Given the description of an element on the screen output the (x, y) to click on. 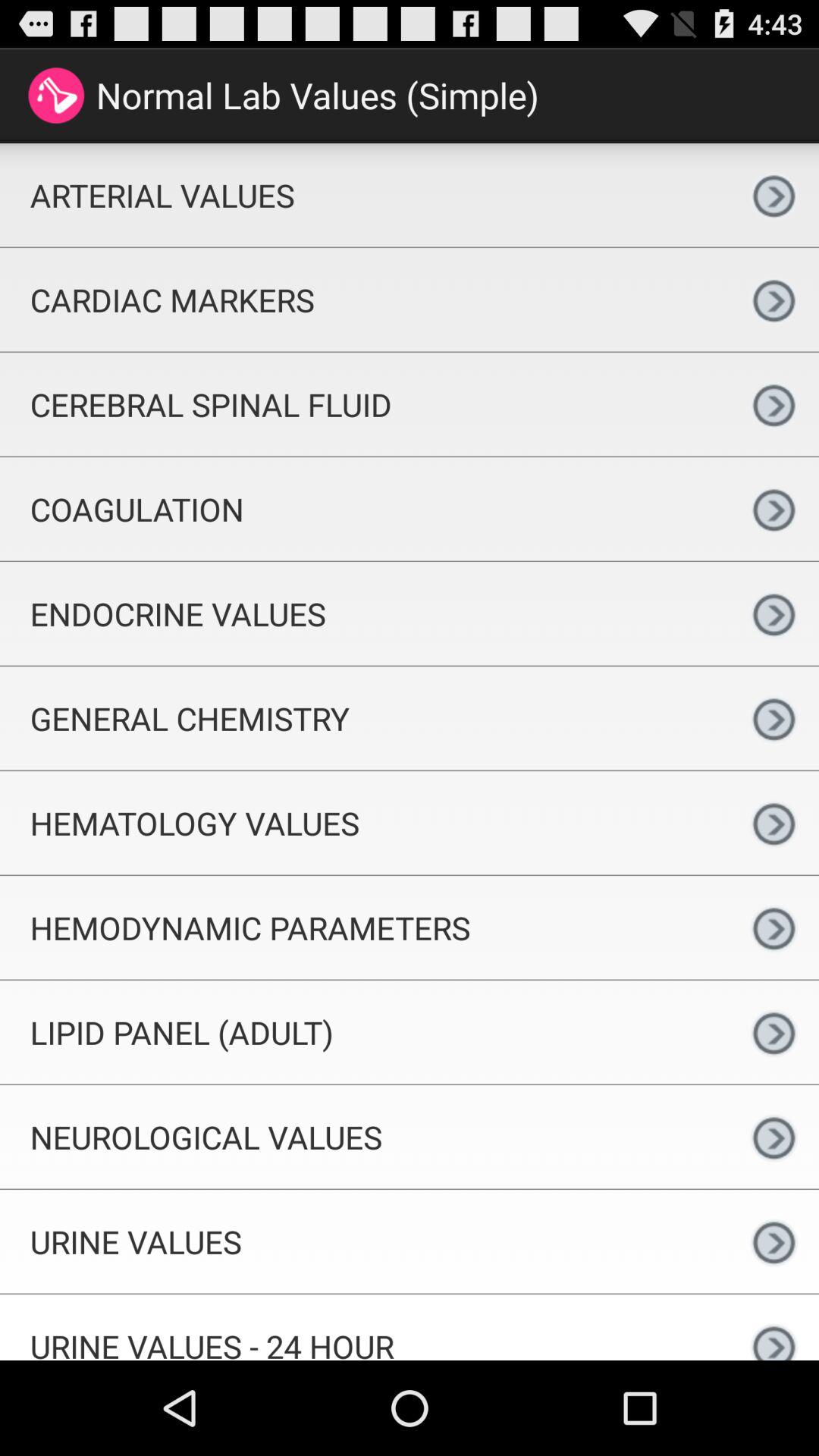
click app below general chemistry icon (364, 822)
